Given the description of an element on the screen output the (x, y) to click on. 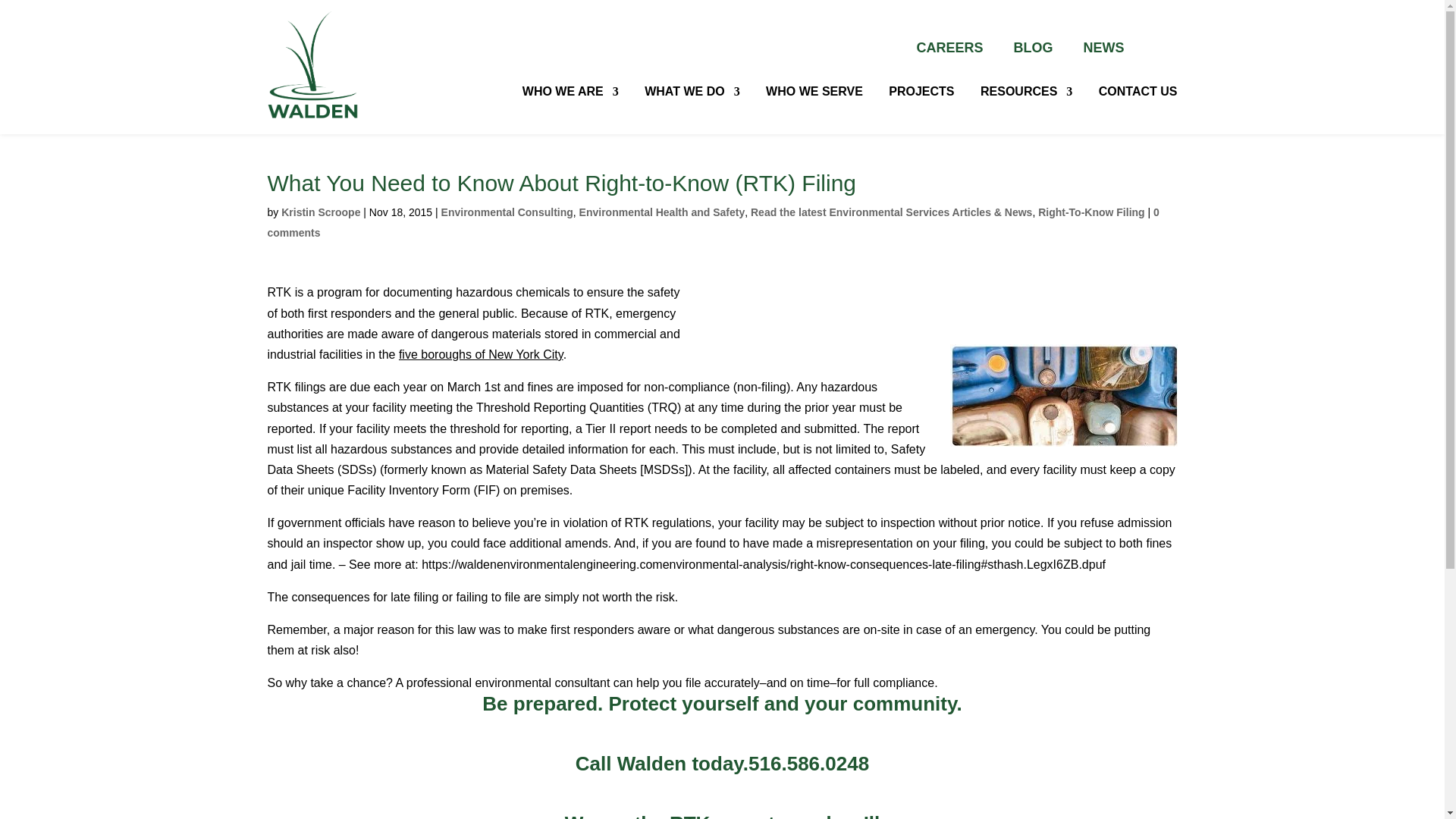
Posts by Kristin Scroope (320, 212)
BLOG (1032, 47)
WHAT WE DO (692, 91)
WHO WE ARE (570, 91)
CAREERS (948, 47)
NEWS (1103, 47)
